Given the description of an element on the screen output the (x, y) to click on. 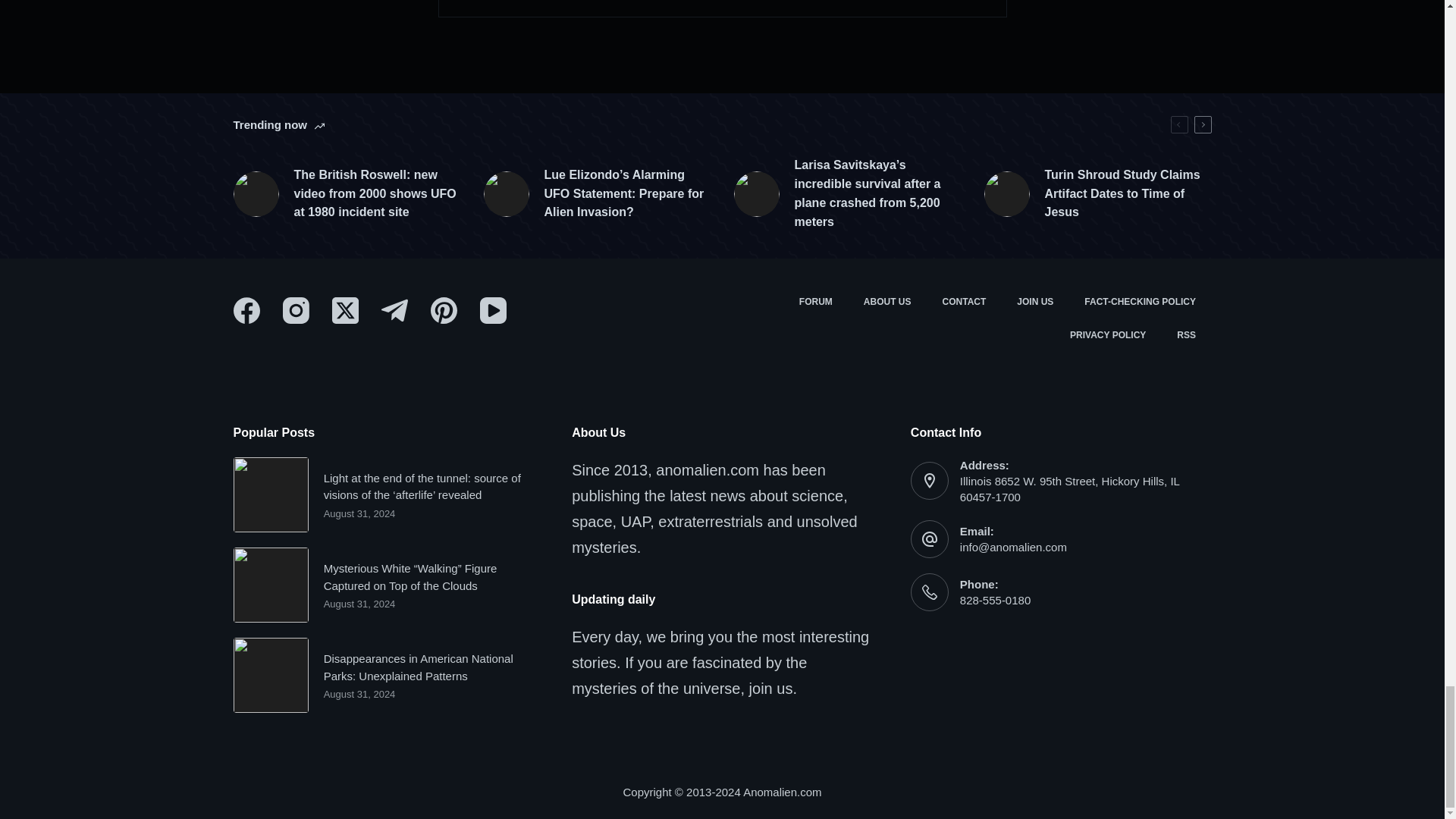
Discussion Forum (815, 302)
Contact us (964, 302)
Comments (722, 8)
